Given the description of an element on the screen output the (x, y) to click on. 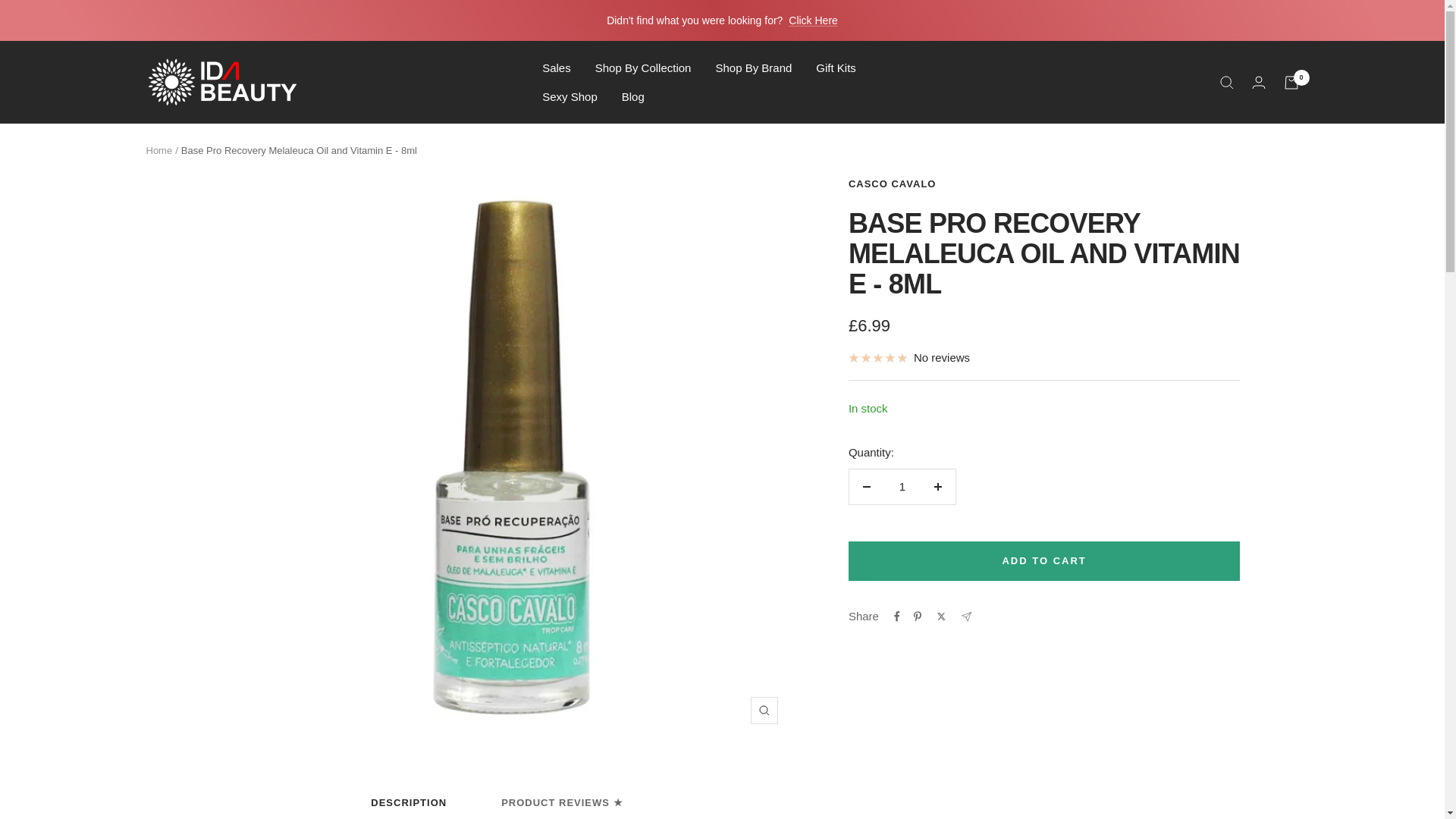
Home (158, 150)
0 (1291, 82)
Decrease quantity (865, 486)
Zoom (764, 709)
ADD TO CART (1044, 560)
CASCO CAVALO (892, 183)
1 (901, 486)
Shop By Collection (643, 67)
Blog (633, 96)
Click Here (813, 20)
